Given the description of an element on the screen output the (x, y) to click on. 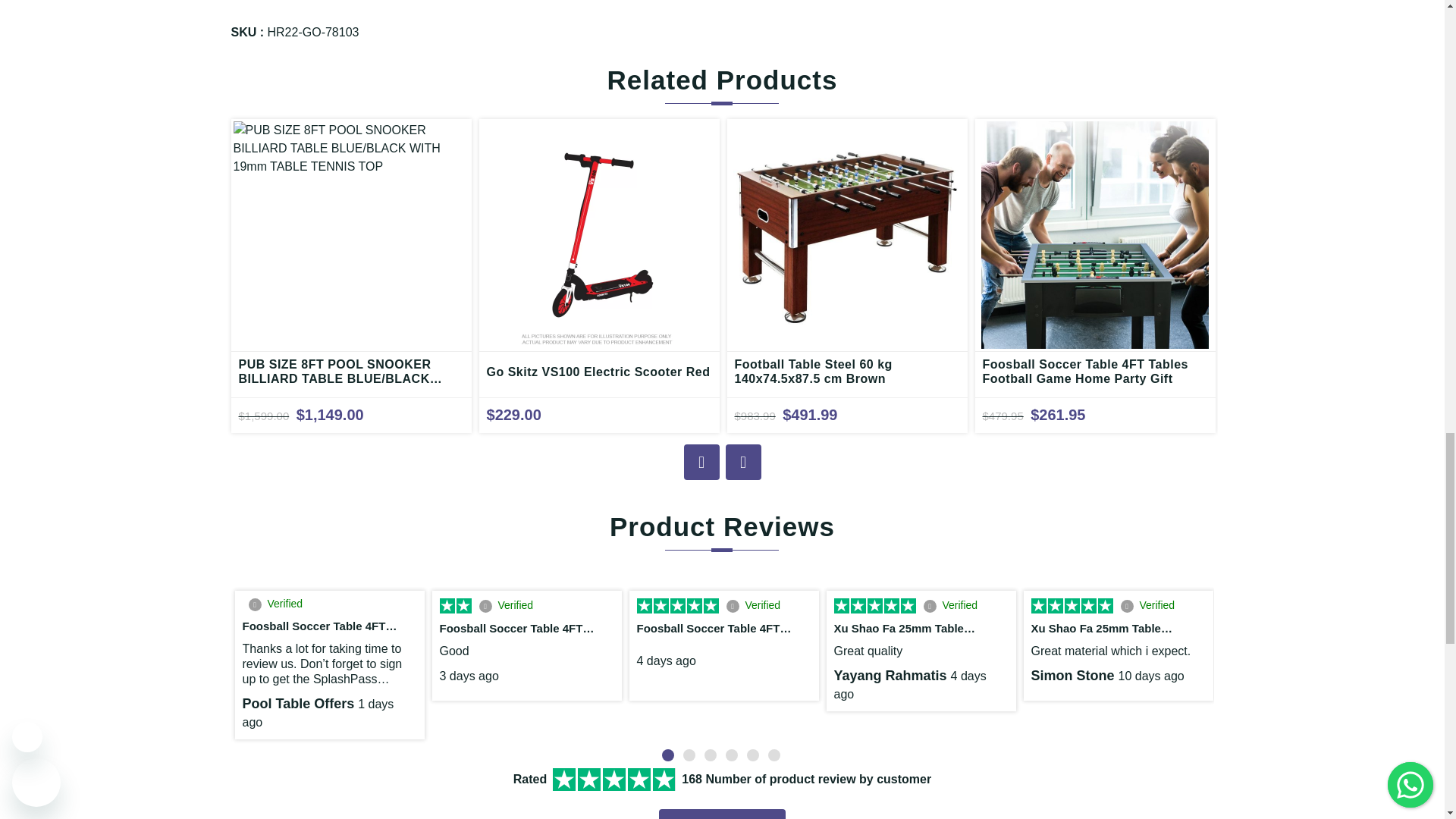
Prev arrow (701, 461)
Next arrow (742, 461)
